Given the description of an element on the screen output the (x, y) to click on. 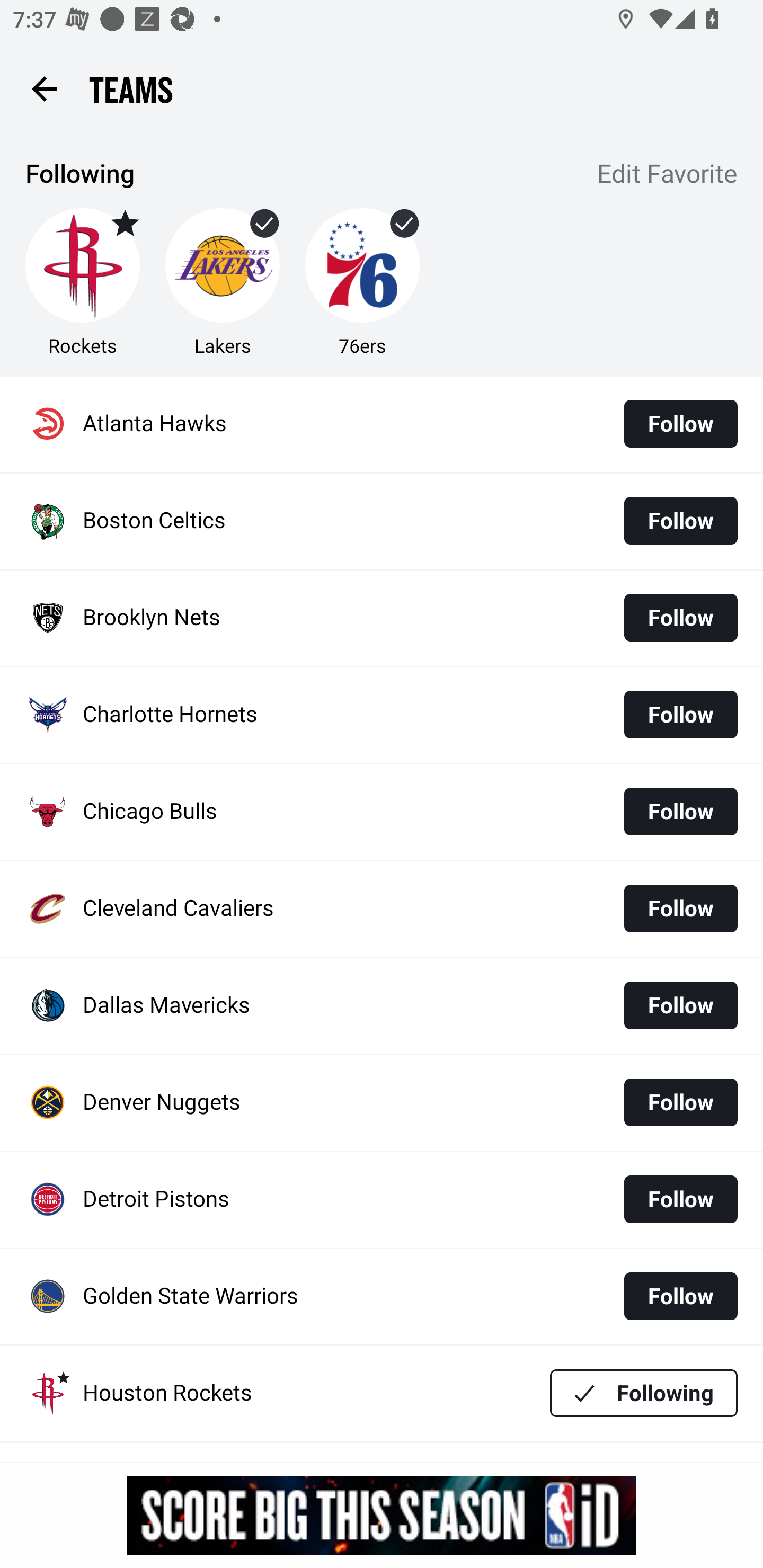
Back button (44, 88)
Edit Favorite (667, 175)
Atlanta Hawks Follow (381, 423)
Follow (680, 423)
Boston Celtics Follow (381, 521)
Follow (680, 520)
Brooklyn Nets Follow (381, 618)
Follow (680, 617)
Charlotte Hornets Follow (381, 714)
Follow (680, 713)
Chicago Bulls Follow (381, 812)
Follow (680, 811)
Cleveland Cavaliers Follow (381, 908)
Follow (680, 908)
Dallas Mavericks Follow (381, 1005)
Follow (680, 1005)
Denver Nuggets Follow (381, 1102)
Follow (680, 1101)
Detroit Pistons Follow (381, 1200)
Follow (680, 1199)
Golden State Warriors Follow (381, 1296)
Follow (680, 1295)
Houston Rockets Following (381, 1392)
Following (643, 1392)
g5nqqygr7owph (381, 1515)
